Given the description of an element on the screen output the (x, y) to click on. 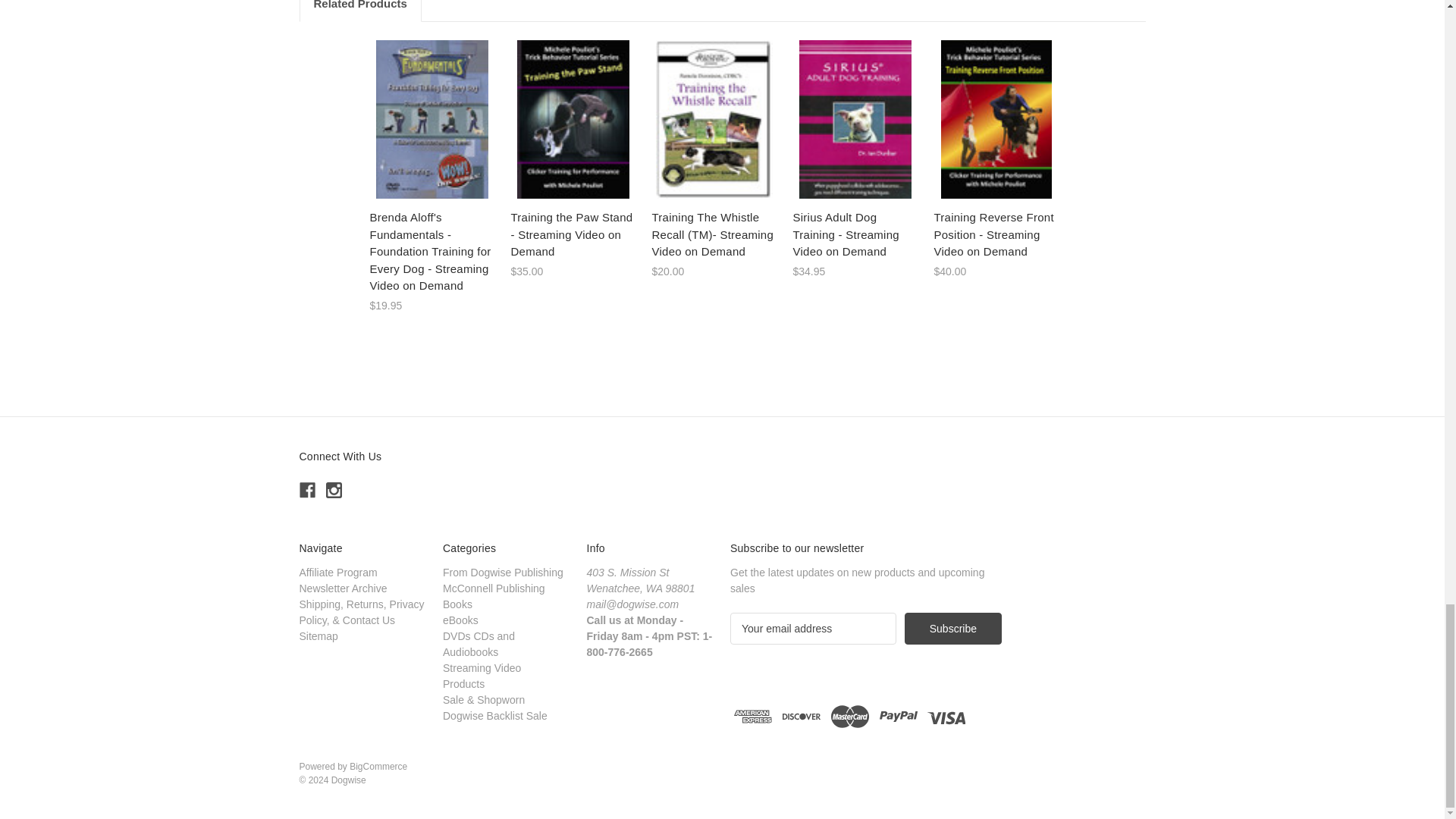
Instagram (334, 489)
Subscribe (952, 628)
Facebook (306, 489)
